Given the description of an element on the screen output the (x, y) to click on. 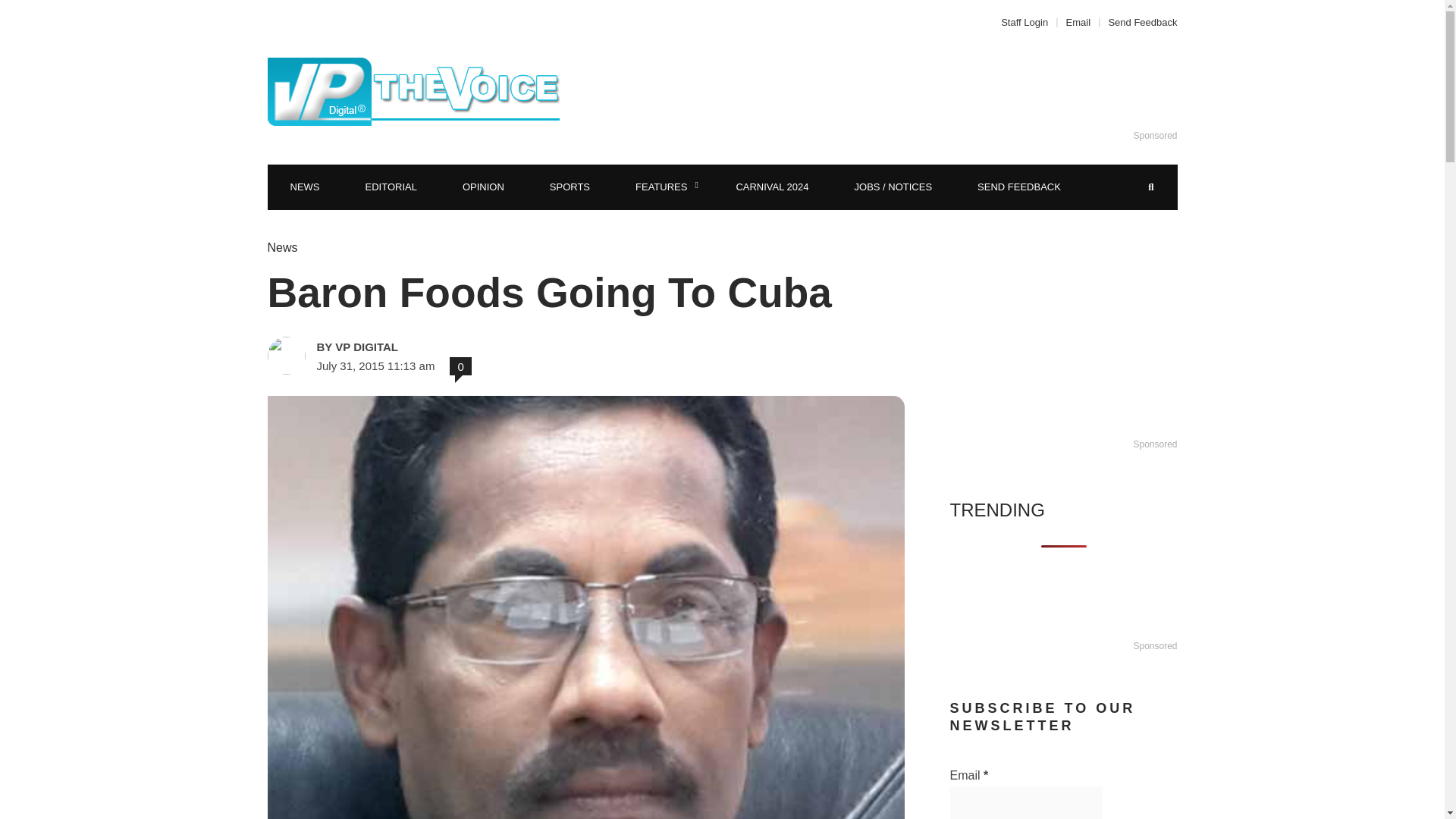
EDITORIAL (390, 186)
Email (1078, 21)
View all posts by VP Digital (422, 346)
VP DIGITAL (422, 346)
SPORTS (569, 186)
NEWS (304, 186)
SEND FEEDBACK (1019, 186)
News (281, 246)
Email (1024, 802)
Staff Login (1028, 21)
